Given the description of an element on the screen output the (x, y) to click on. 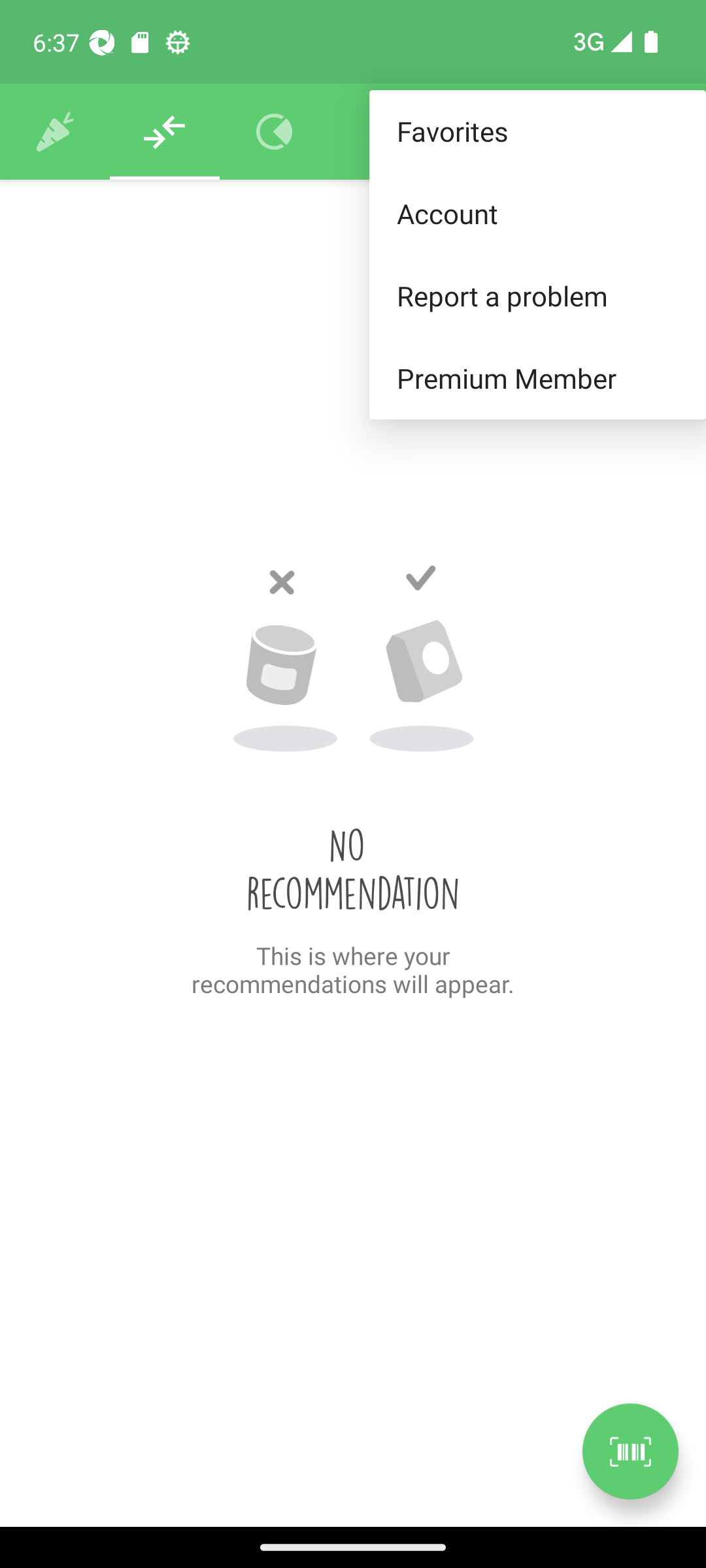
Favorites (537, 131)
Account (537, 213)
Report a problem (537, 295)
Premium Member (537, 378)
